Given the description of an element on the screen output the (x, y) to click on. 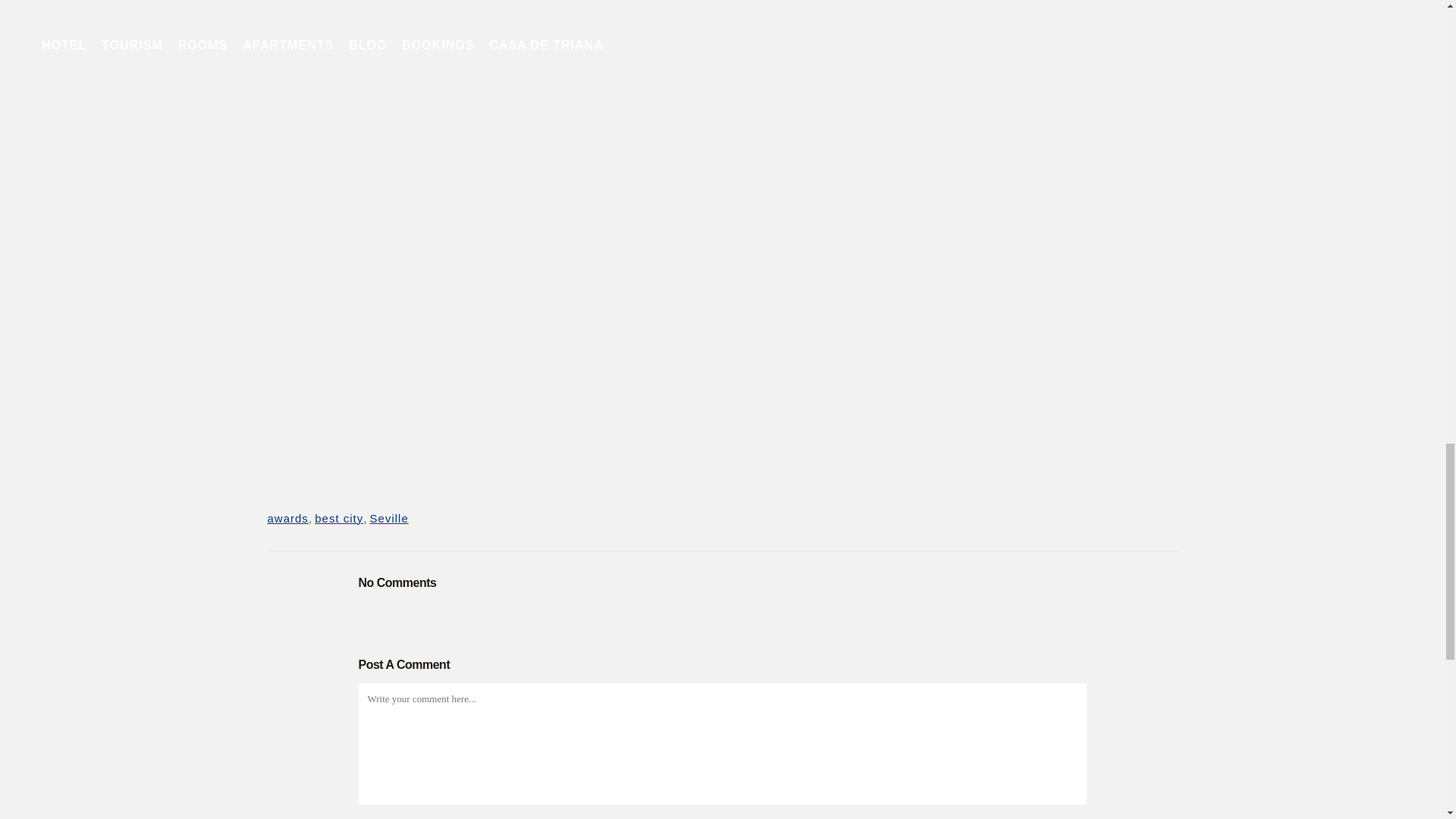
best city (338, 517)
Seville (389, 517)
awards (286, 517)
